Given the description of an element on the screen output the (x, y) to click on. 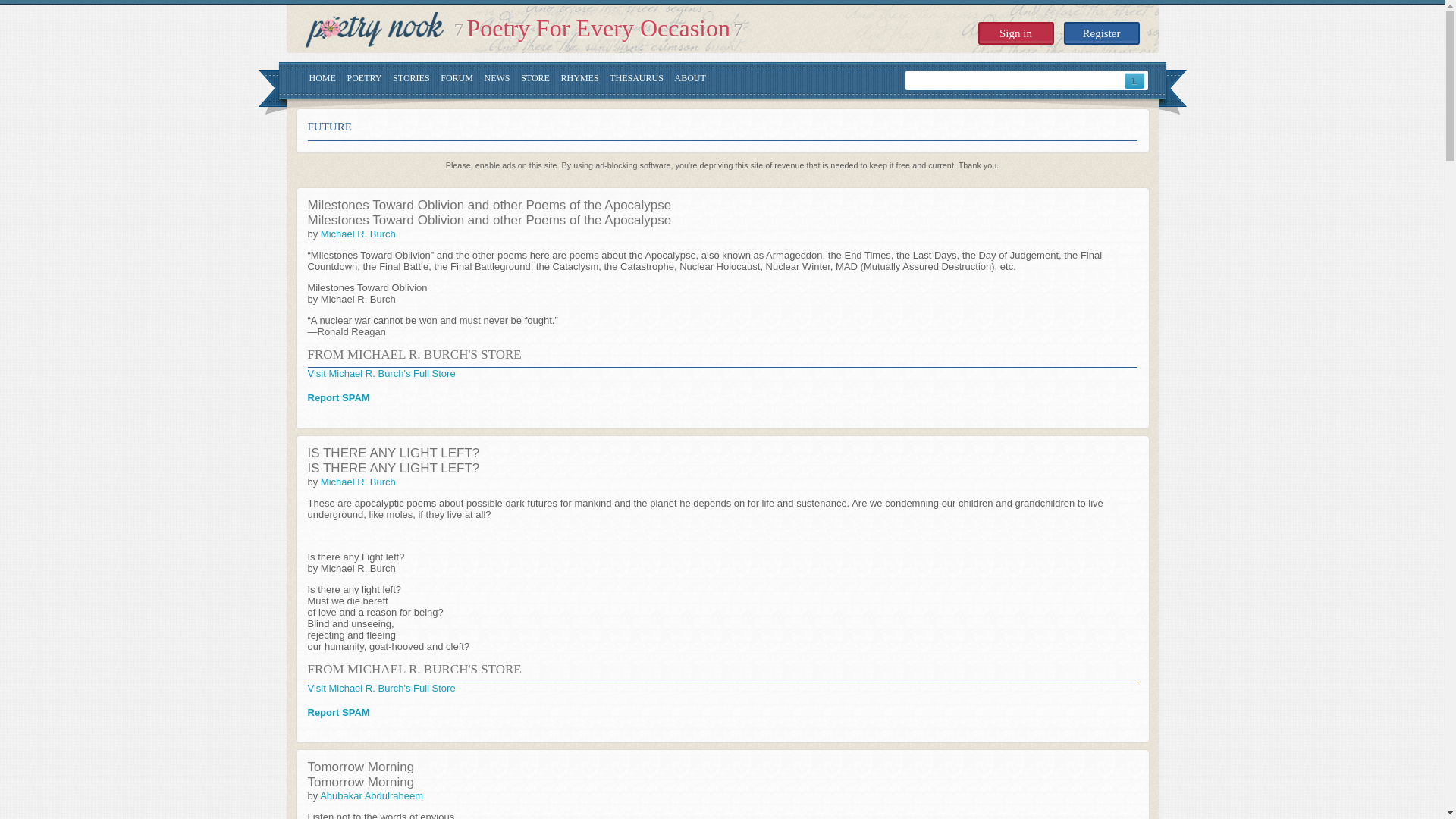
Tomorrow Morning (360, 766)
IS THERE ANY LIGHT LEFT? (393, 452)
THESAURUS (636, 79)
Milestones Toward Oblivion and other Poems of the Apocalypse (489, 219)
Sign in (1016, 33)
Michael R. Burch (358, 481)
HOME (322, 79)
Visit Michael R. Burch's Full Store (381, 373)
Report SPAM (338, 397)
FROM MICHAEL R. BURCH'S STORE (414, 354)
Michael R. Burch (358, 233)
STORIES (411, 79)
POETRY (363, 79)
RHYMES (579, 79)
